Given the description of an element on the screen output the (x, y) to click on. 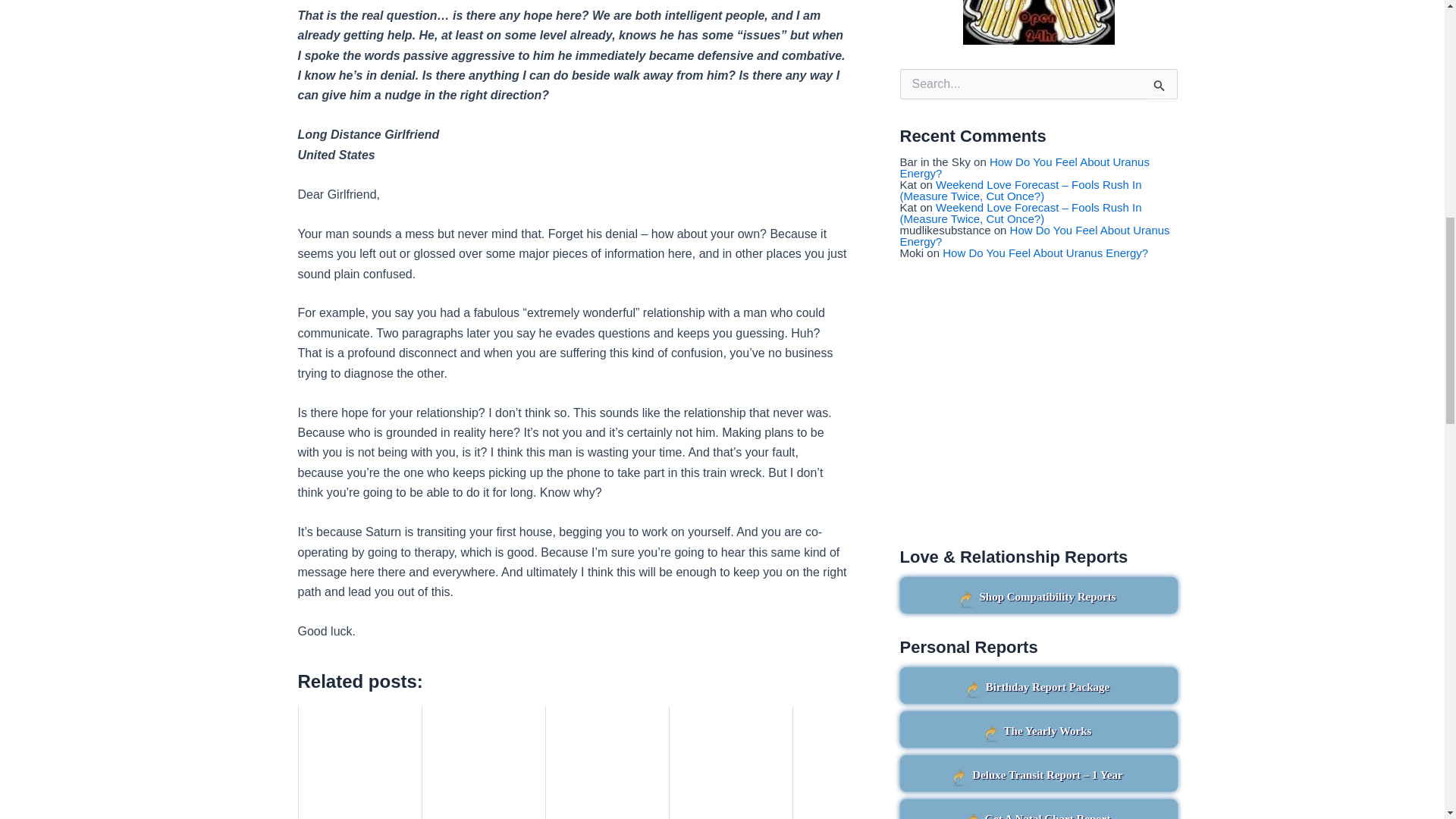
Search (1159, 84)
Search (1159, 84)
